Given the description of an element on the screen output the (x, y) to click on. 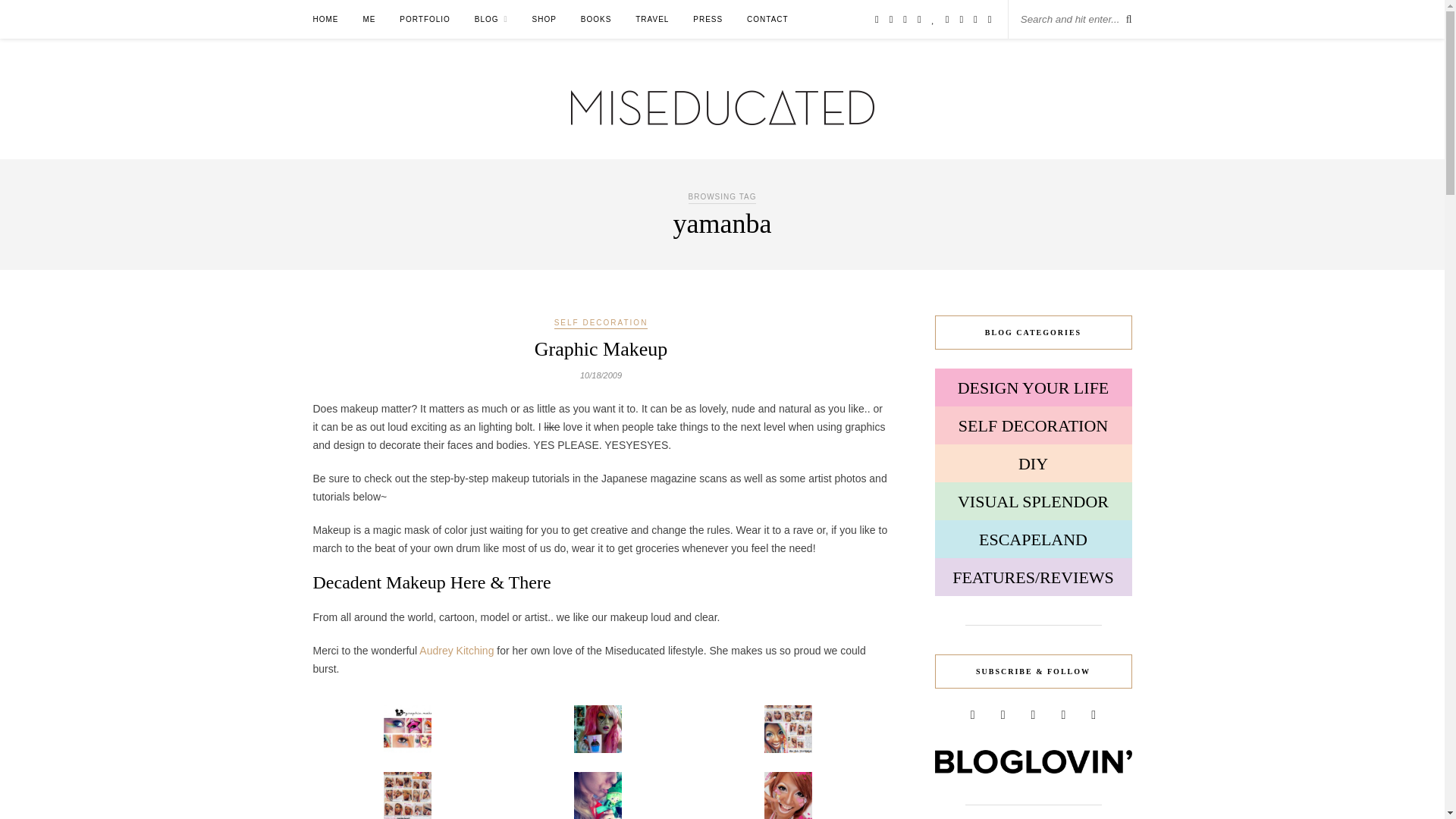
PORTFOLIO (423, 19)
CONTACT (767, 19)
View all posts in Self Decoration (600, 323)
